Given the description of an element on the screen output the (x, y) to click on. 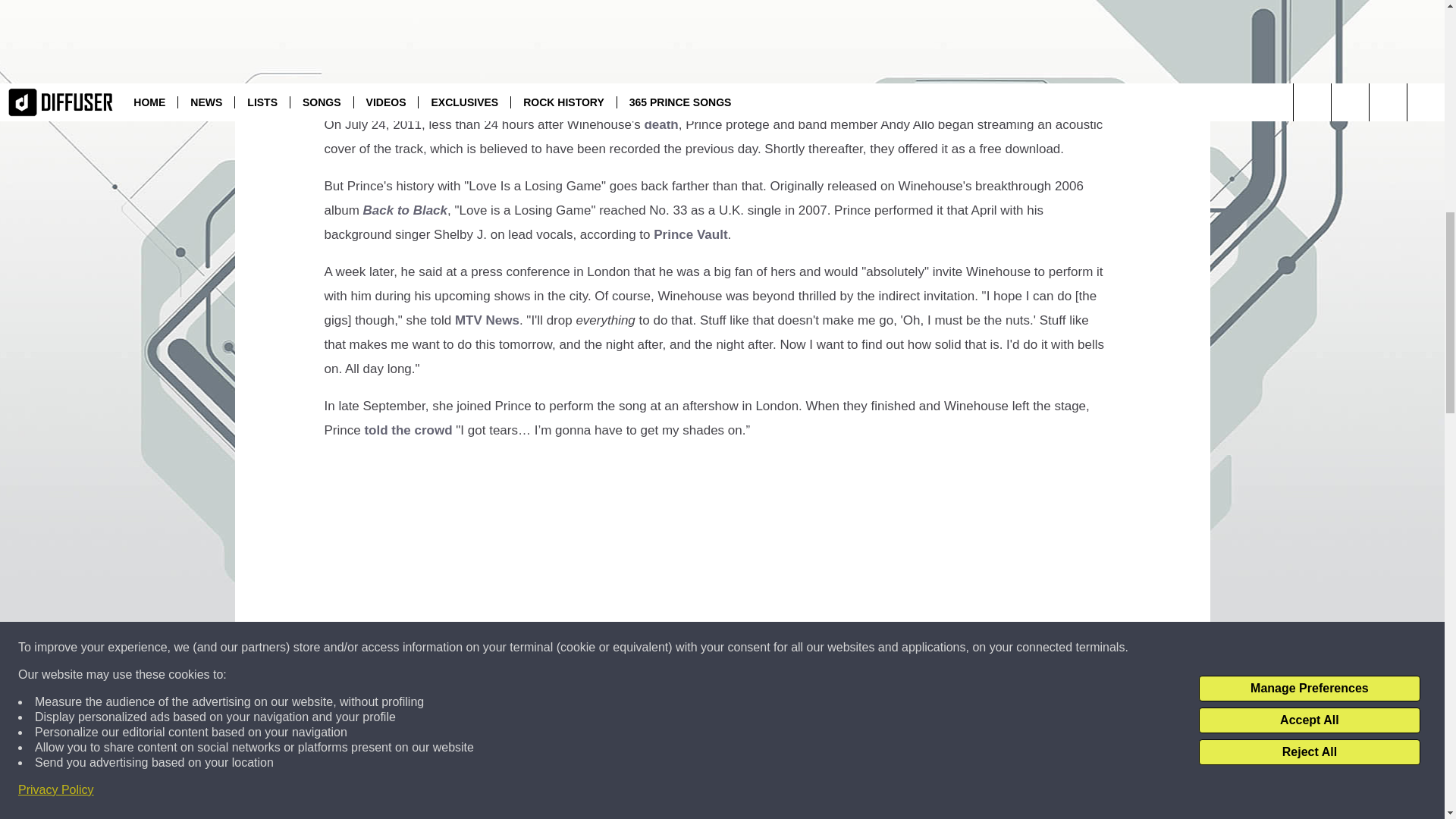
told the crowd (407, 430)
365 Prince Songs in a Year (648, 25)
death (660, 124)
Prince Vault (689, 234)
Amy Winehouse (734, 87)
apparently (406, 801)
Back to Black (405, 210)
MTV News (486, 319)
Prince (827, 4)
